Given the description of an element on the screen output the (x, y) to click on. 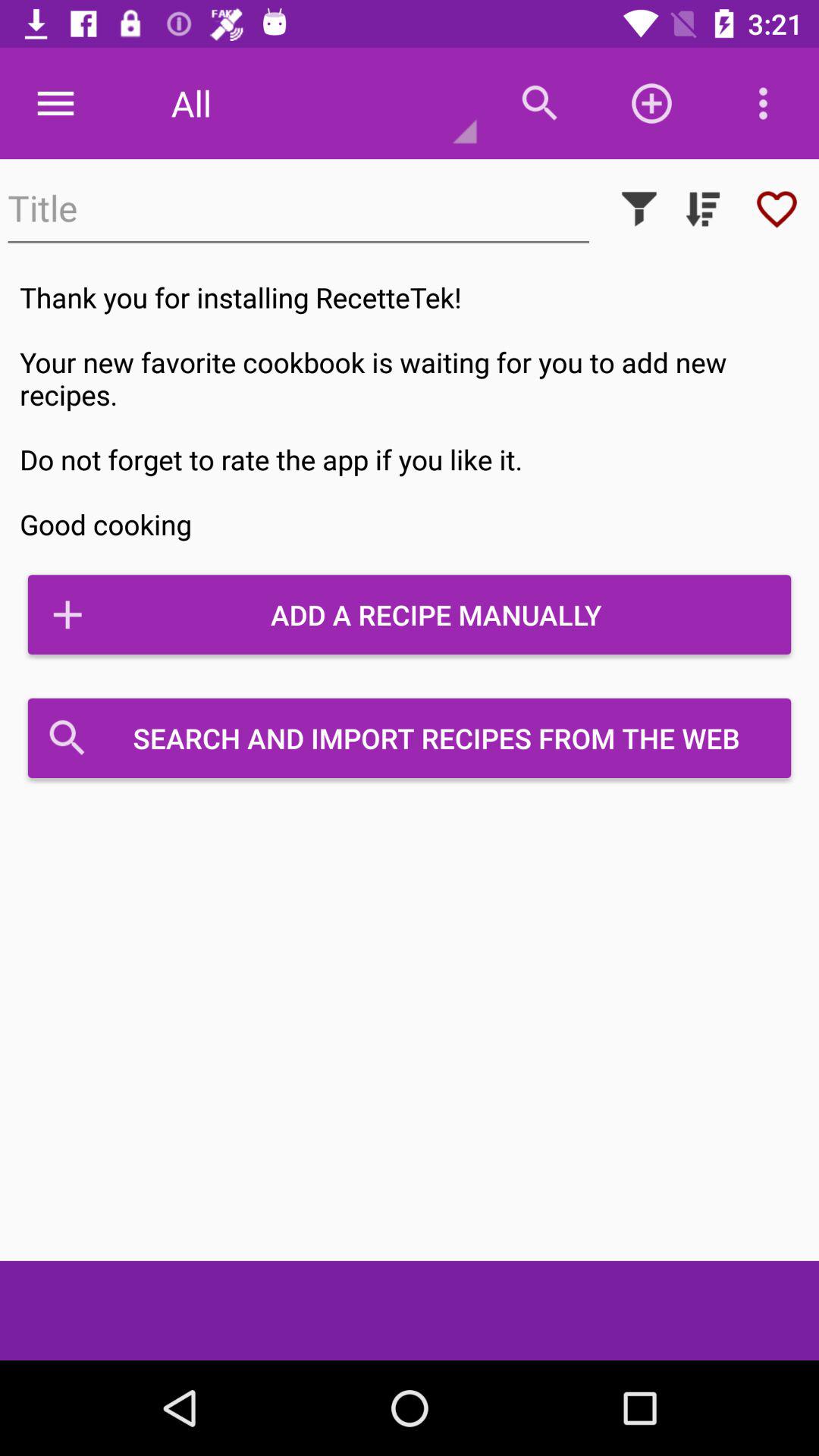
favorite (776, 208)
